Given the description of an element on the screen output the (x, y) to click on. 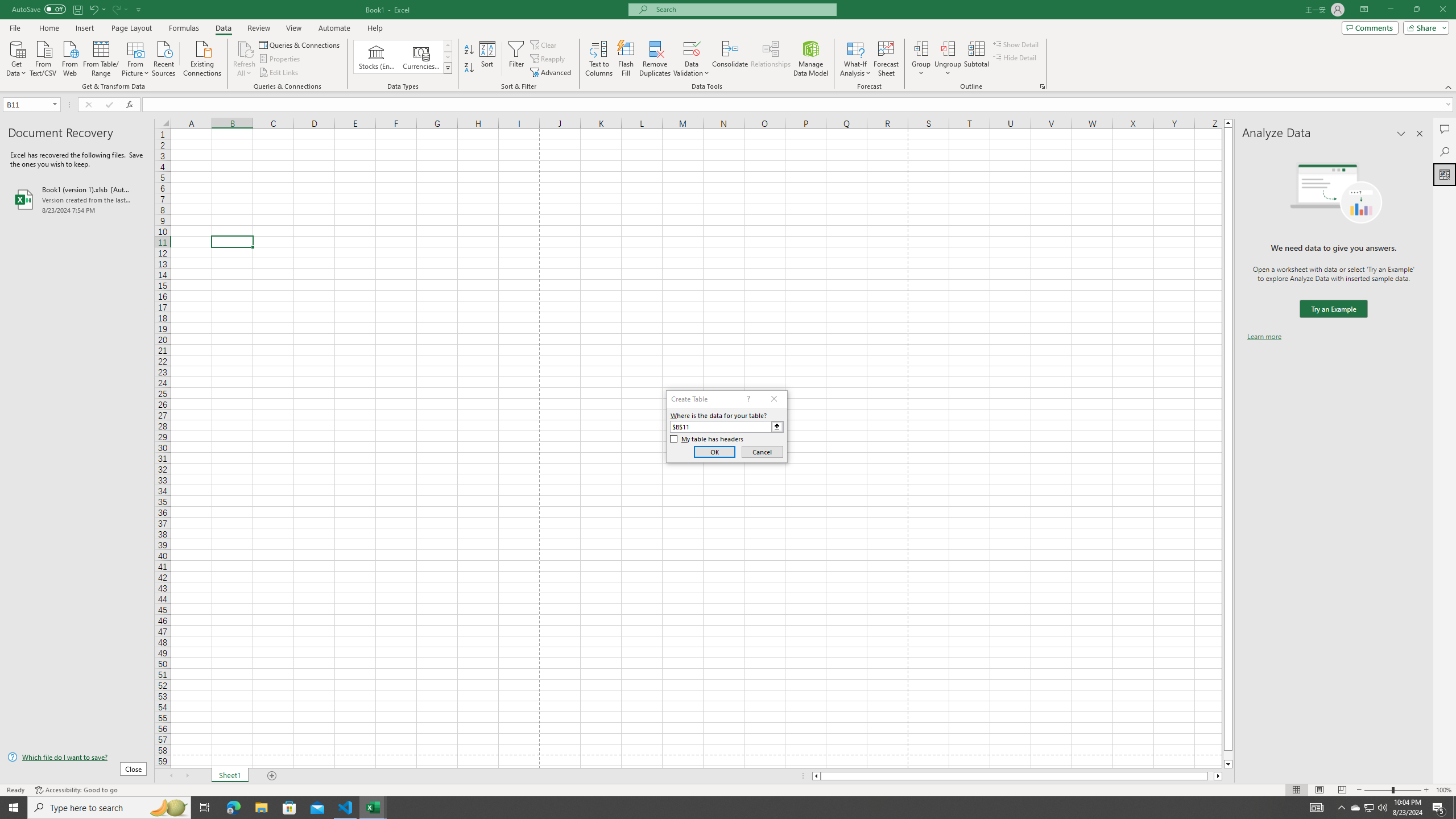
Learn more (1264, 336)
